Given the description of an element on the screen output the (x, y) to click on. 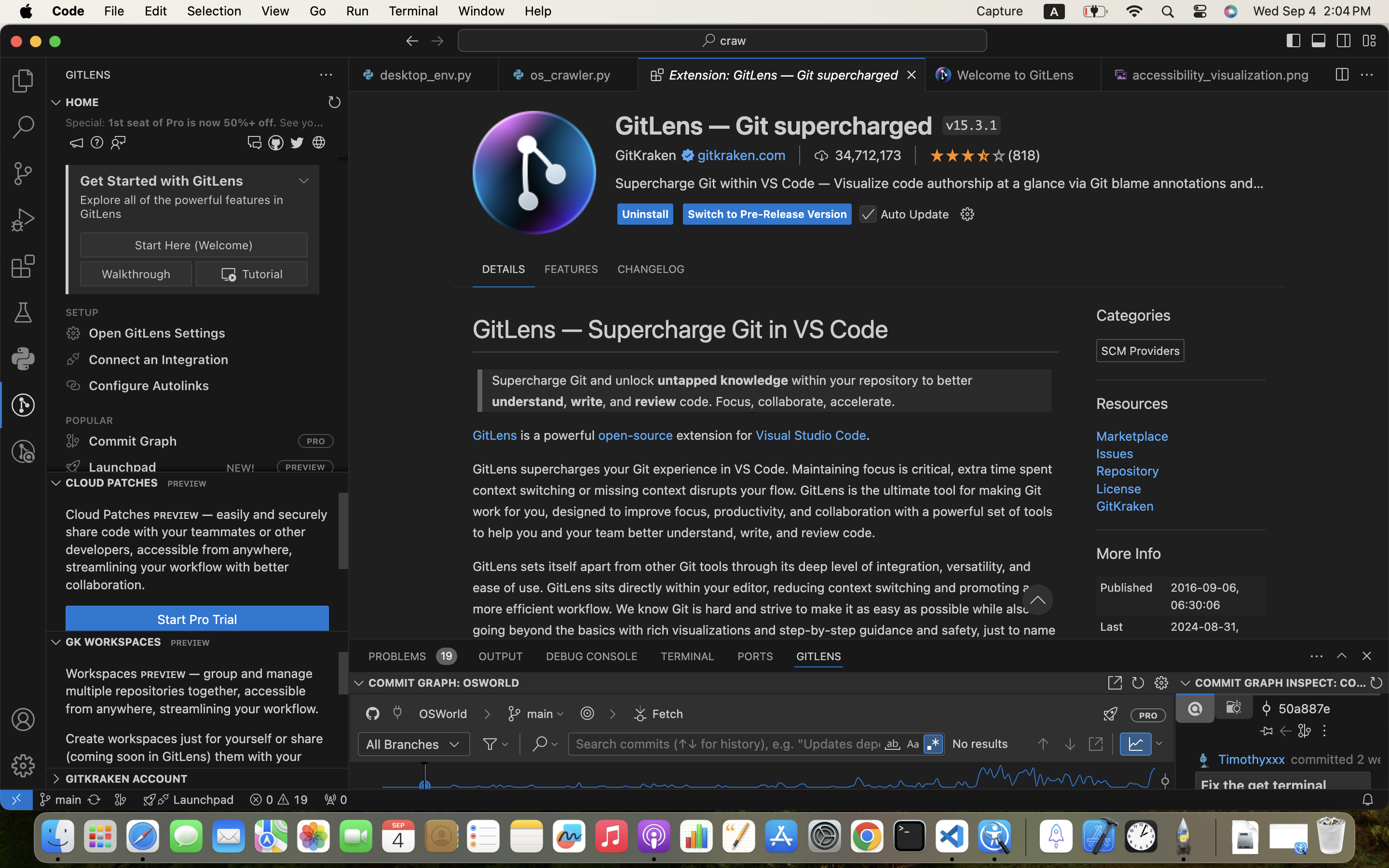
 Element type: AXButton (967, 214)
 Element type: AXStaticText (924, 545)
Use the interactive Element type: AXStaticText (548, 459)
customizable Element type: AXStaticText (1087, 228)
understand Element type: AXStaticText (922, 180)
